Given the description of an element on the screen output the (x, y) to click on. 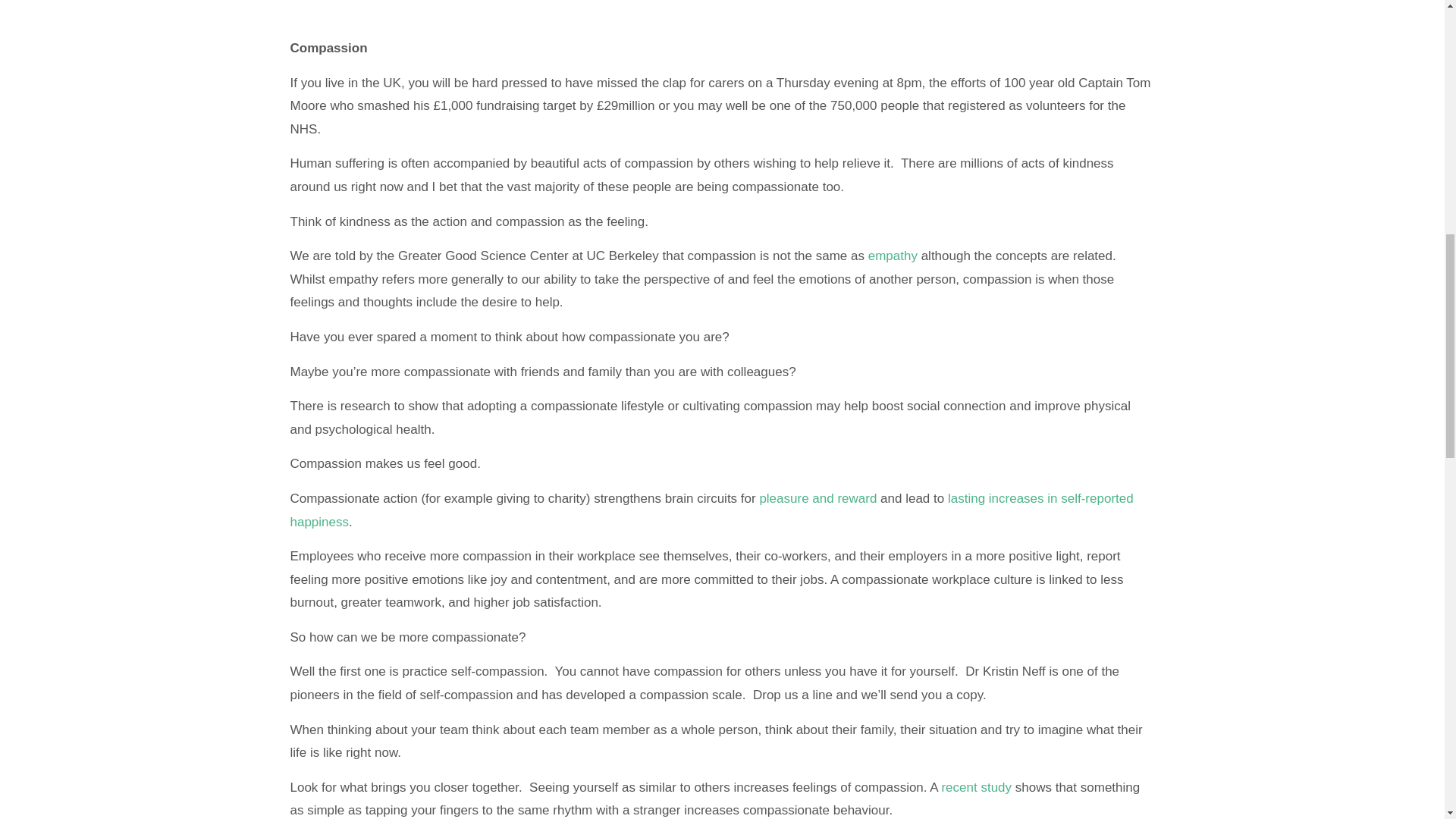
lasting increases in self-reported happiness (710, 510)
recent study (975, 787)
pleasure and reward (817, 498)
empathy (892, 255)
